Given the description of an element on the screen output the (x, y) to click on. 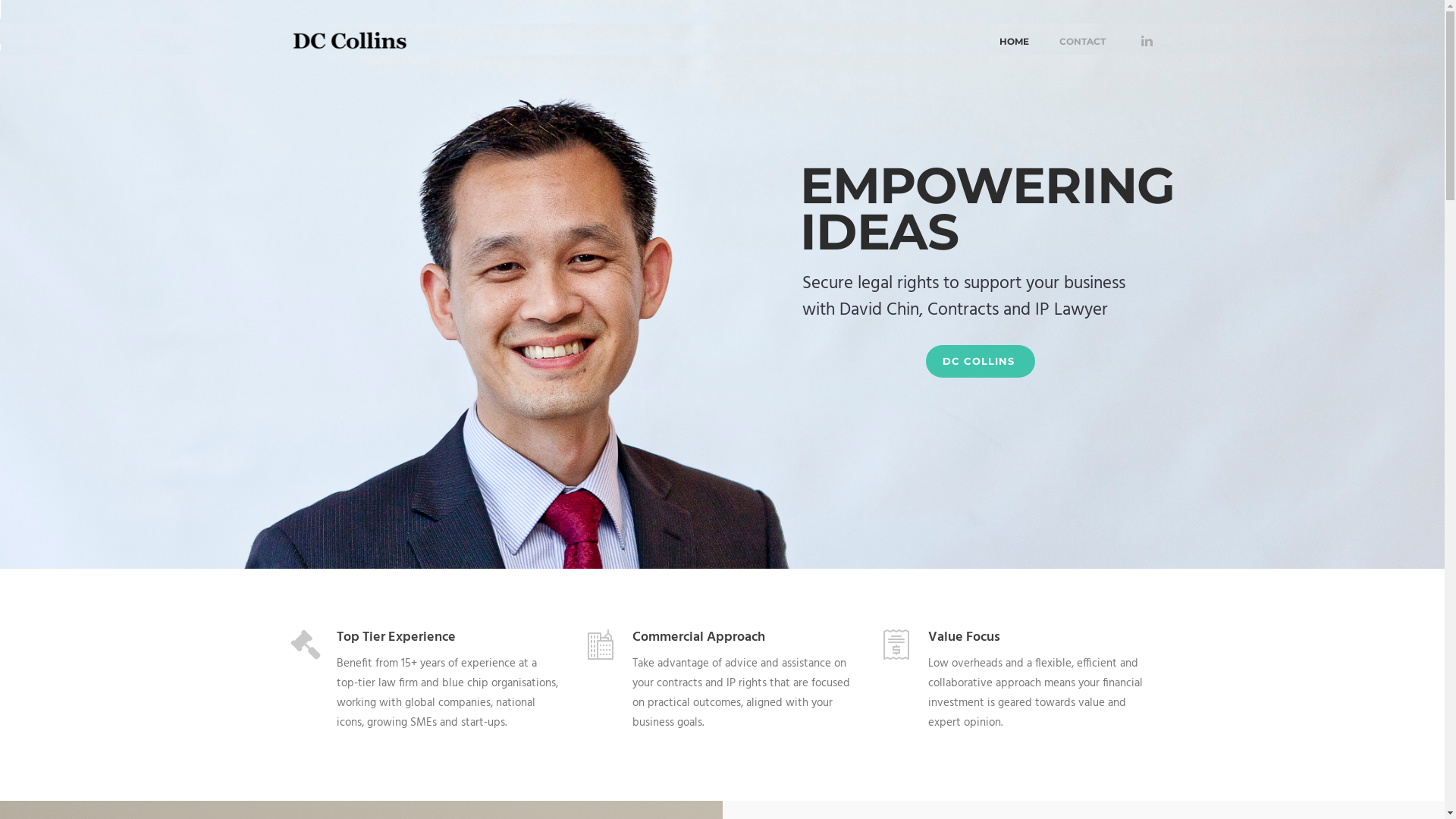
HOME Element type: text (1014, 39)
CONTACT Element type: text (1081, 39)
